Given the description of an element on the screen output the (x, y) to click on. 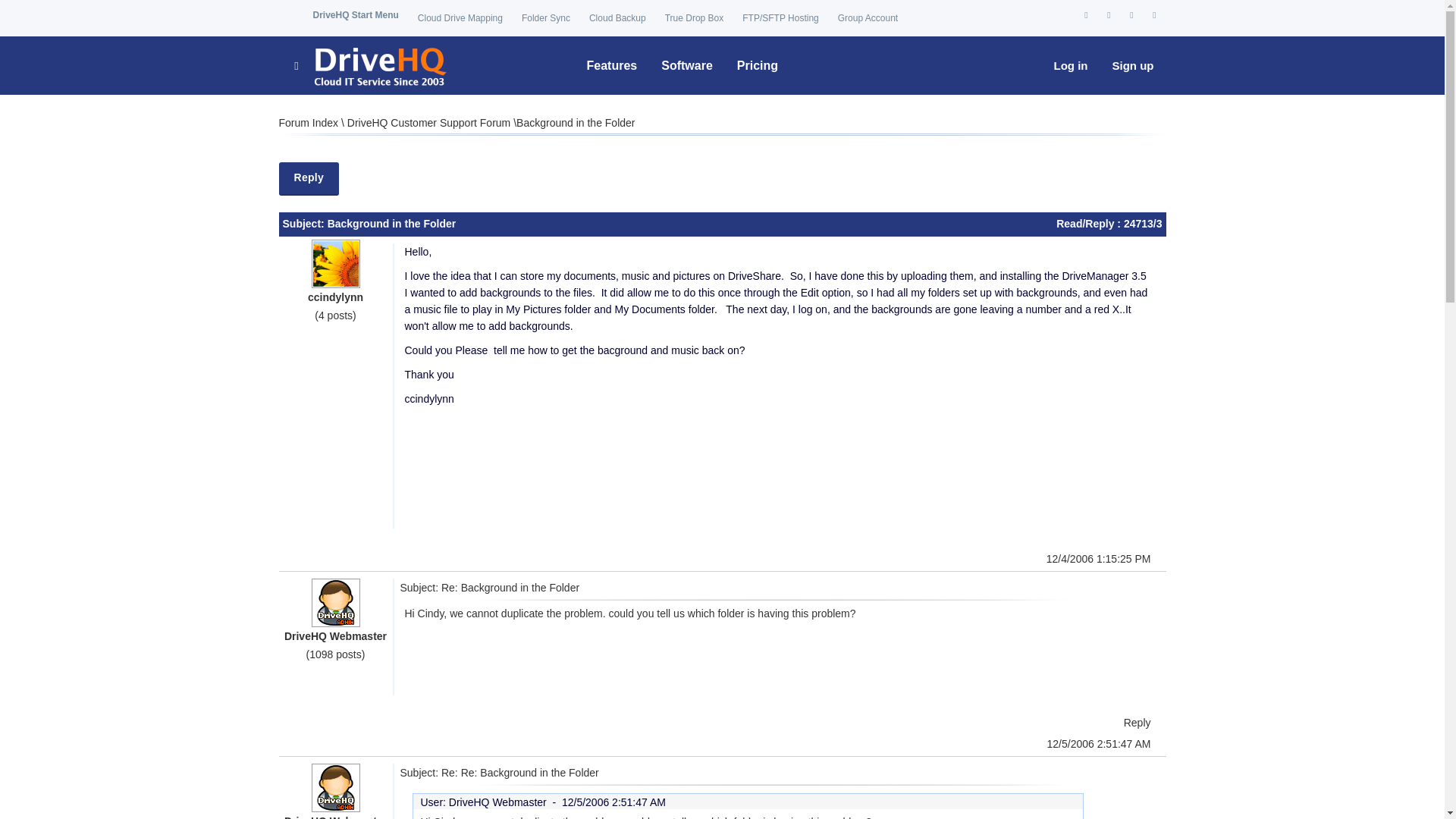
True Drop Box (694, 18)
DriveHQ Cloud IT Service Home (369, 65)
Group Account (868, 18)
Complete FTP Server hosting solution (780, 18)
Automatically back up PC, Mac and Server to the cloud (617, 18)
Cloud Drive Mapping (459, 18)
DriveHQ Start Menu (355, 15)
Folder Sync (545, 18)
Cloud Backup (617, 18)
